Given the description of an element on the screen output the (x, y) to click on. 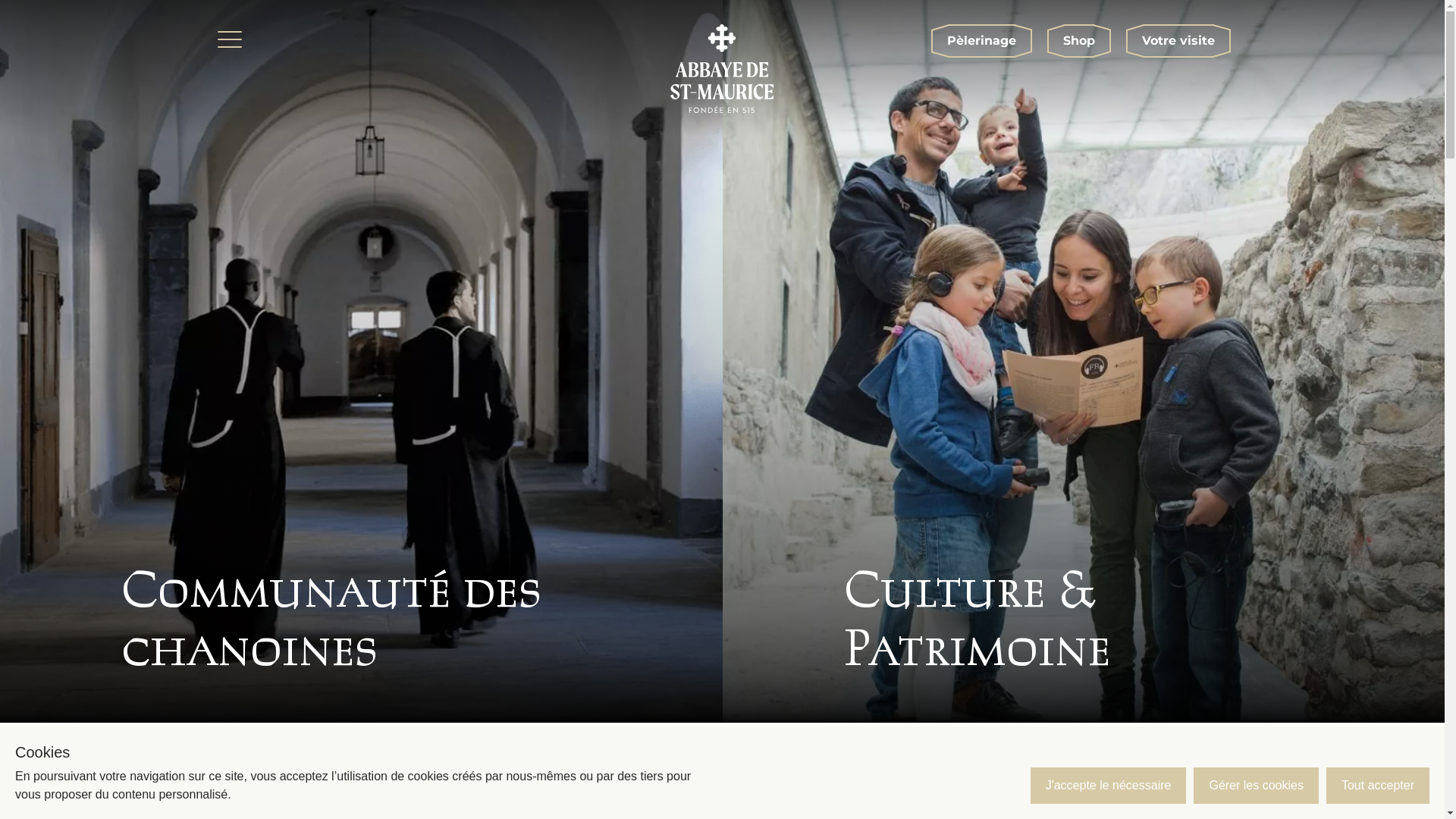
Tout accepter Element type: text (1377, 785)
Votre visite Element type: text (1177, 40)
Culture & Patrimoine Element type: text (1082, 361)
open menu Element type: hover (228, 39)
Shop Element type: text (1078, 40)
